Given the description of an element on the screen output the (x, y) to click on. 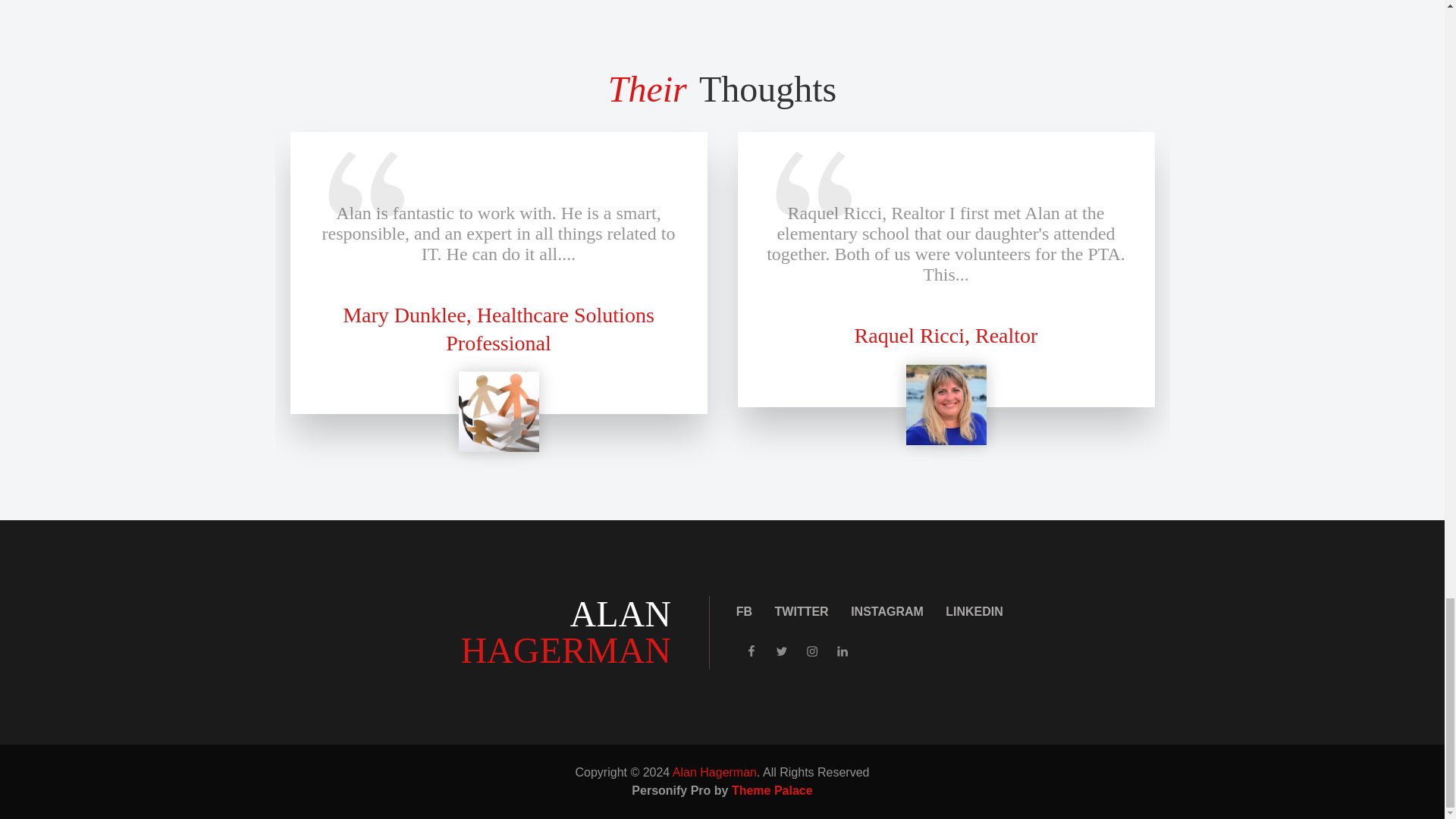
Alan Hagerman (714, 771)
LINKEDIN (973, 611)
FB (744, 611)
INSTAGRAM (886, 611)
Mary Dunklee, Healthcare Solutions Professional (497, 328)
TWITTER (801, 611)
Theme Palace (772, 789)
Raquel Ricci, Realtor (946, 335)
